Given the description of an element on the screen output the (x, y) to click on. 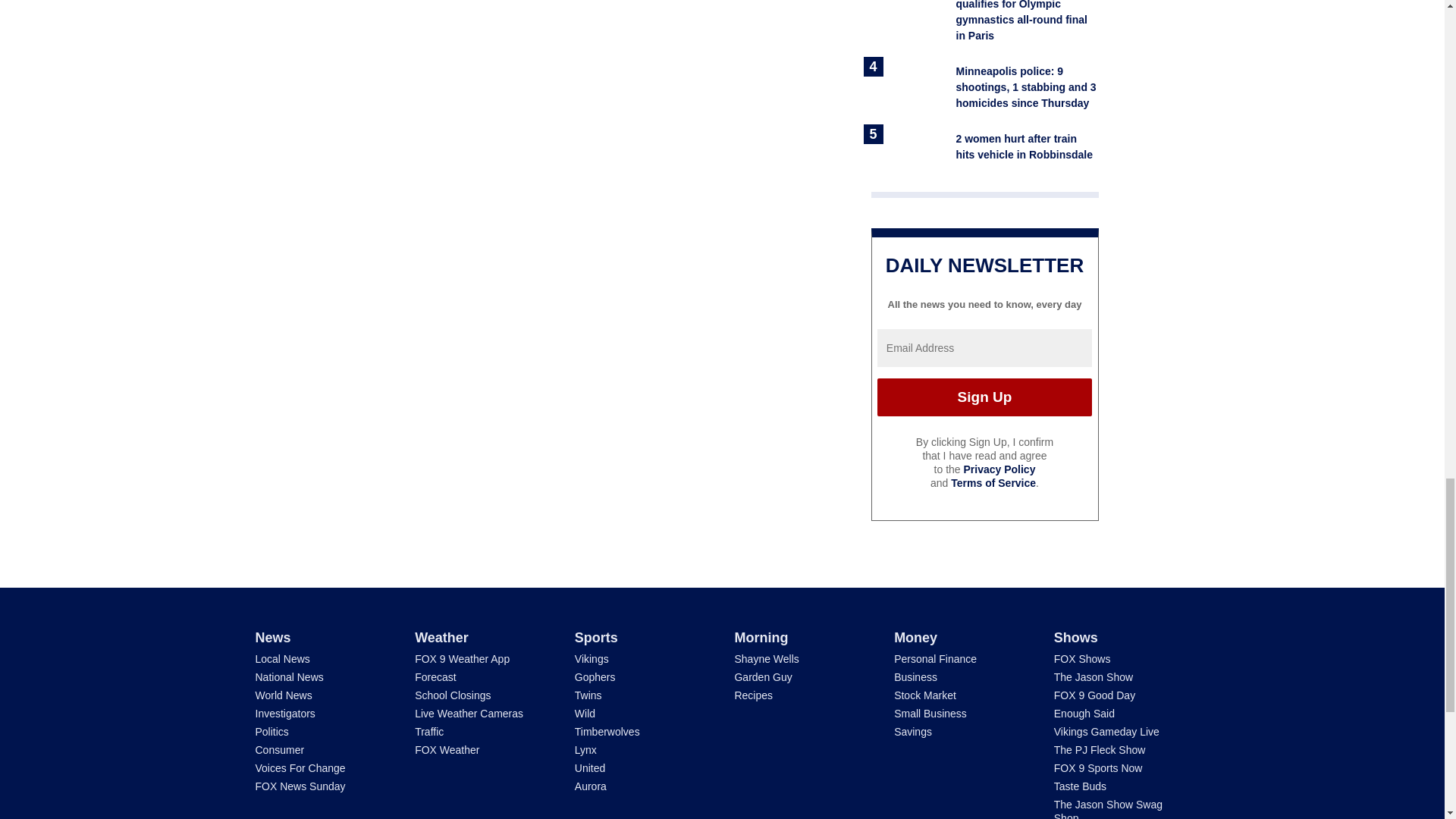
Sign Up (984, 397)
